Given the description of an element on the screen output the (x, y) to click on. 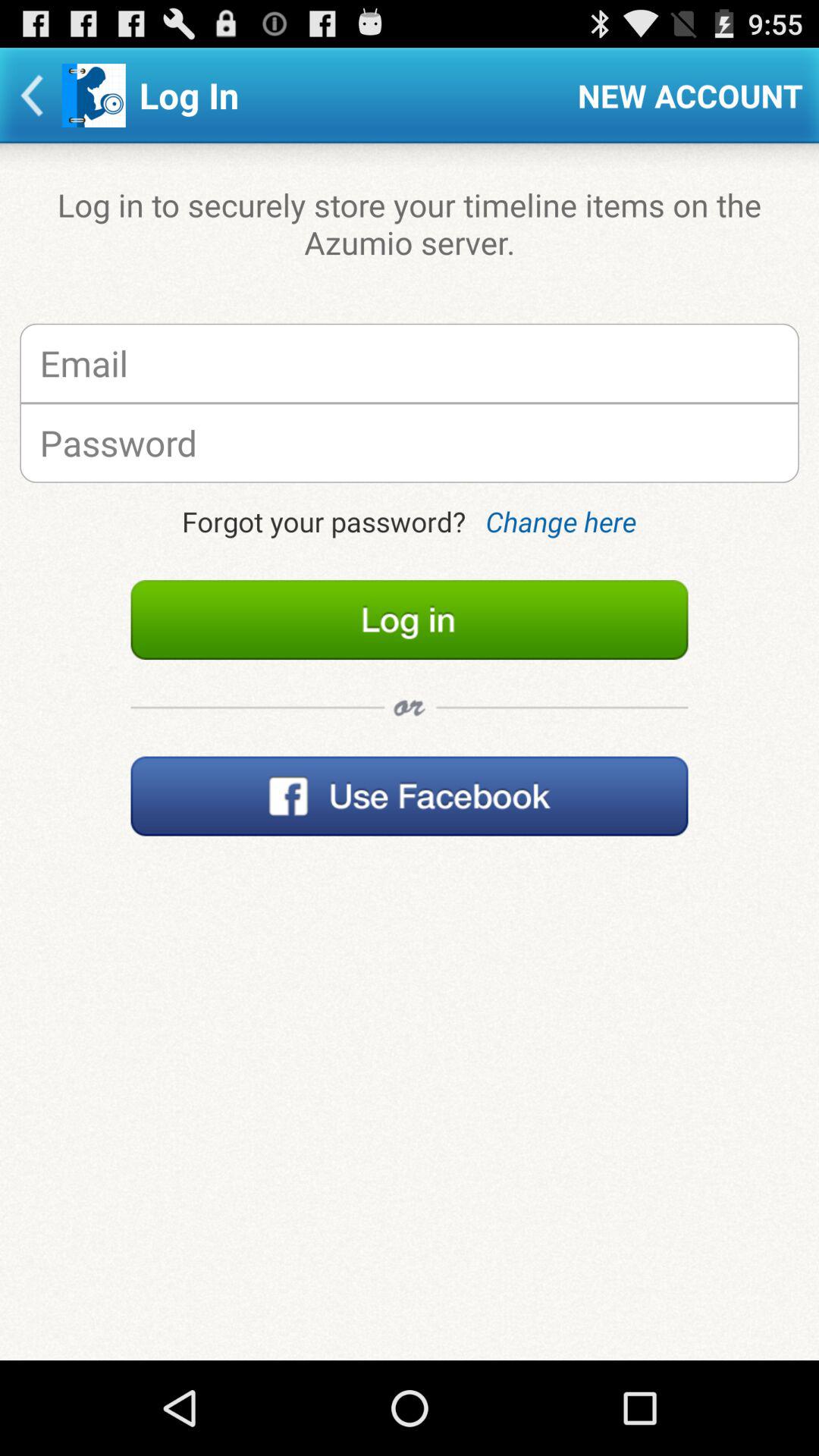
go to facebook (409, 796)
